Given the description of an element on the screen output the (x, y) to click on. 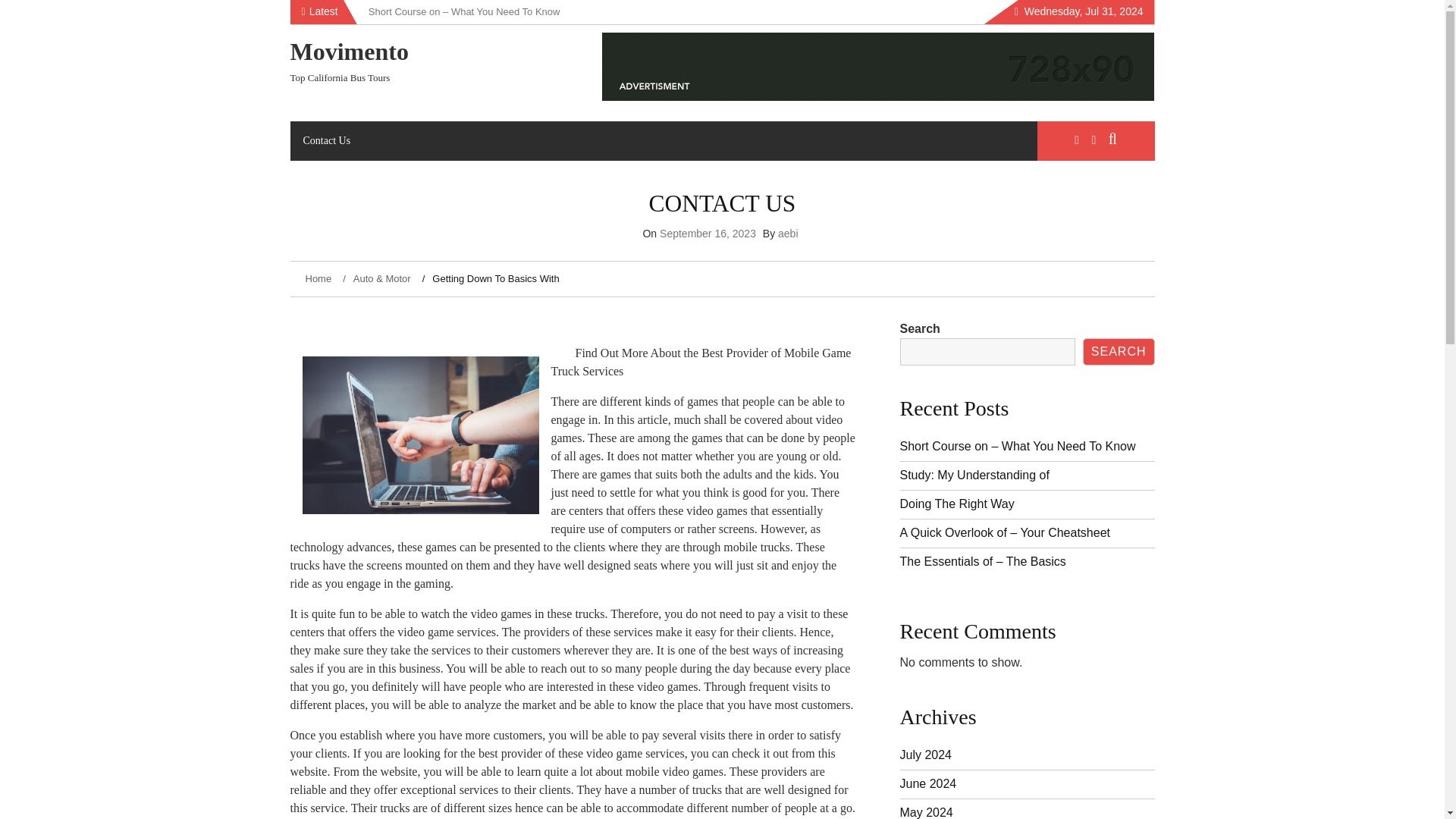
SEARCH (1118, 351)
Study: My Understanding of (973, 474)
June 2024 (927, 783)
Home (319, 278)
September 16, 2023 (707, 233)
aebi (787, 233)
July 2024 (925, 754)
Movimento (348, 51)
May 2024 (925, 812)
Contact Us (325, 140)
Doing The Right Way (956, 503)
